Given the description of an element on the screen output the (x, y) to click on. 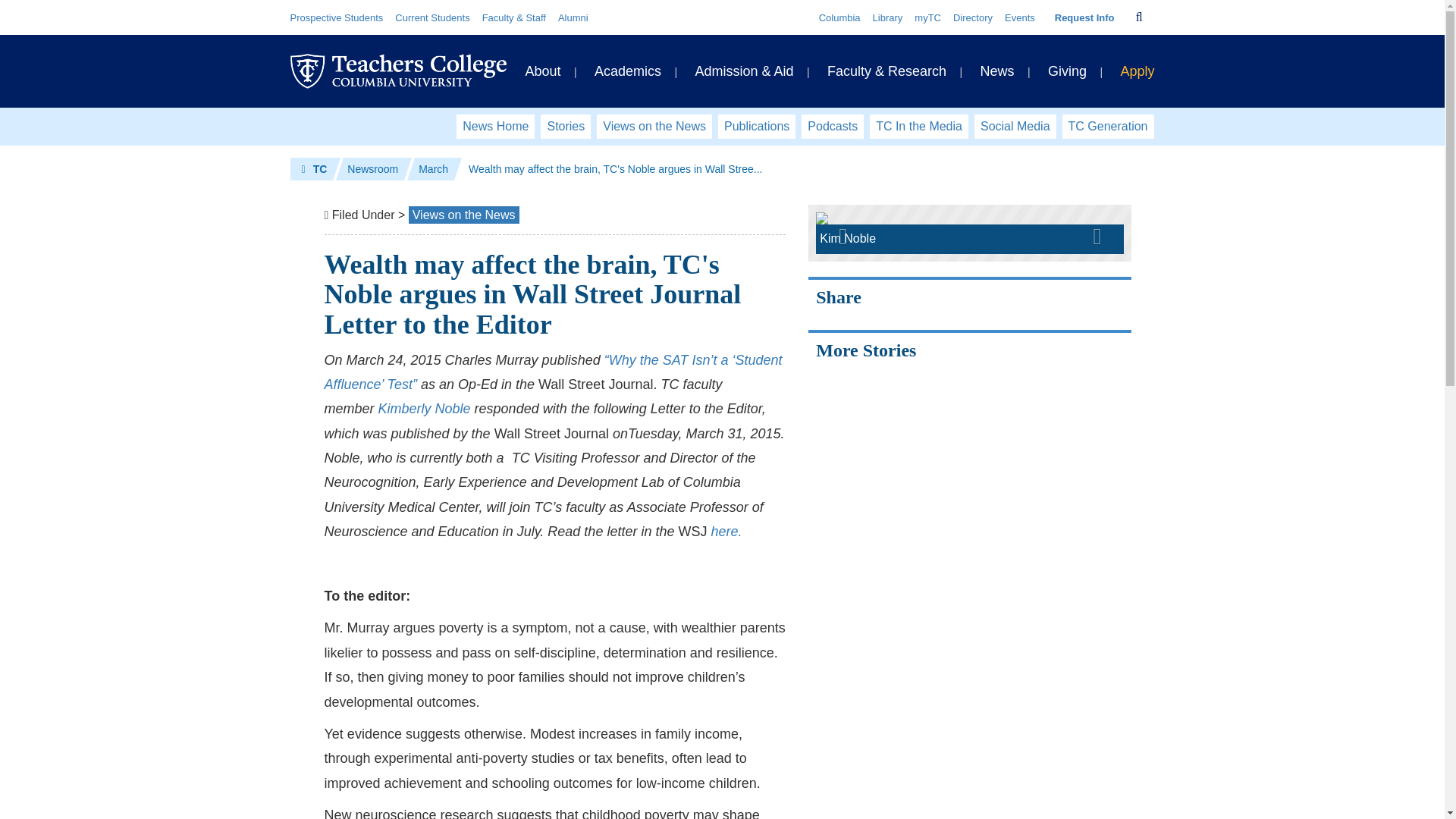
News Home (495, 126)
TC Generation (1108, 126)
Academics (627, 71)
Views on the News (463, 214)
Publications (755, 126)
Current Students (431, 17)
Apply (1136, 71)
Events (1019, 17)
Directory (972, 17)
Request Info (1084, 17)
Prospective Students (335, 17)
Newsroom (372, 168)
Social Media (1015, 126)
March (433, 168)
TC In the Media (918, 126)
